Given the description of an element on the screen output the (x, y) to click on. 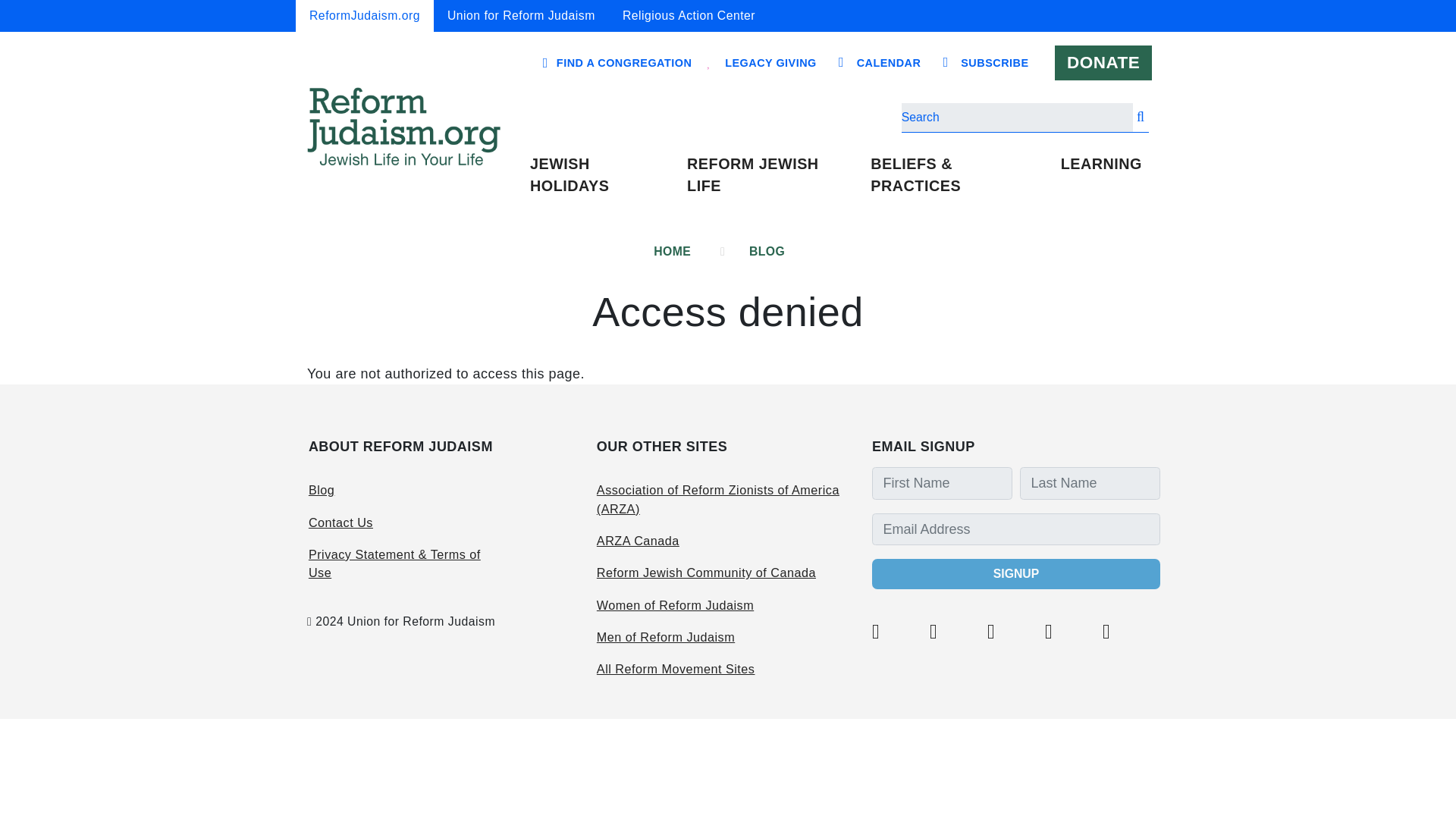
JEWISH HOLIDAYS (600, 175)
Skip to main content (727, 1)
CALENDAR (888, 63)
Religious Action Center (688, 15)
LEGACY GIVING (770, 63)
ReformJudaism.org (364, 15)
DONATE (1102, 63)
REFORM JEWISH LIFE (771, 175)
SUBSCRIBE (994, 63)
FIND A CONGREGATION (623, 62)
Signup (1016, 573)
Union for Reform Judaism (520, 15)
